Given the description of an element on the screen output the (x, y) to click on. 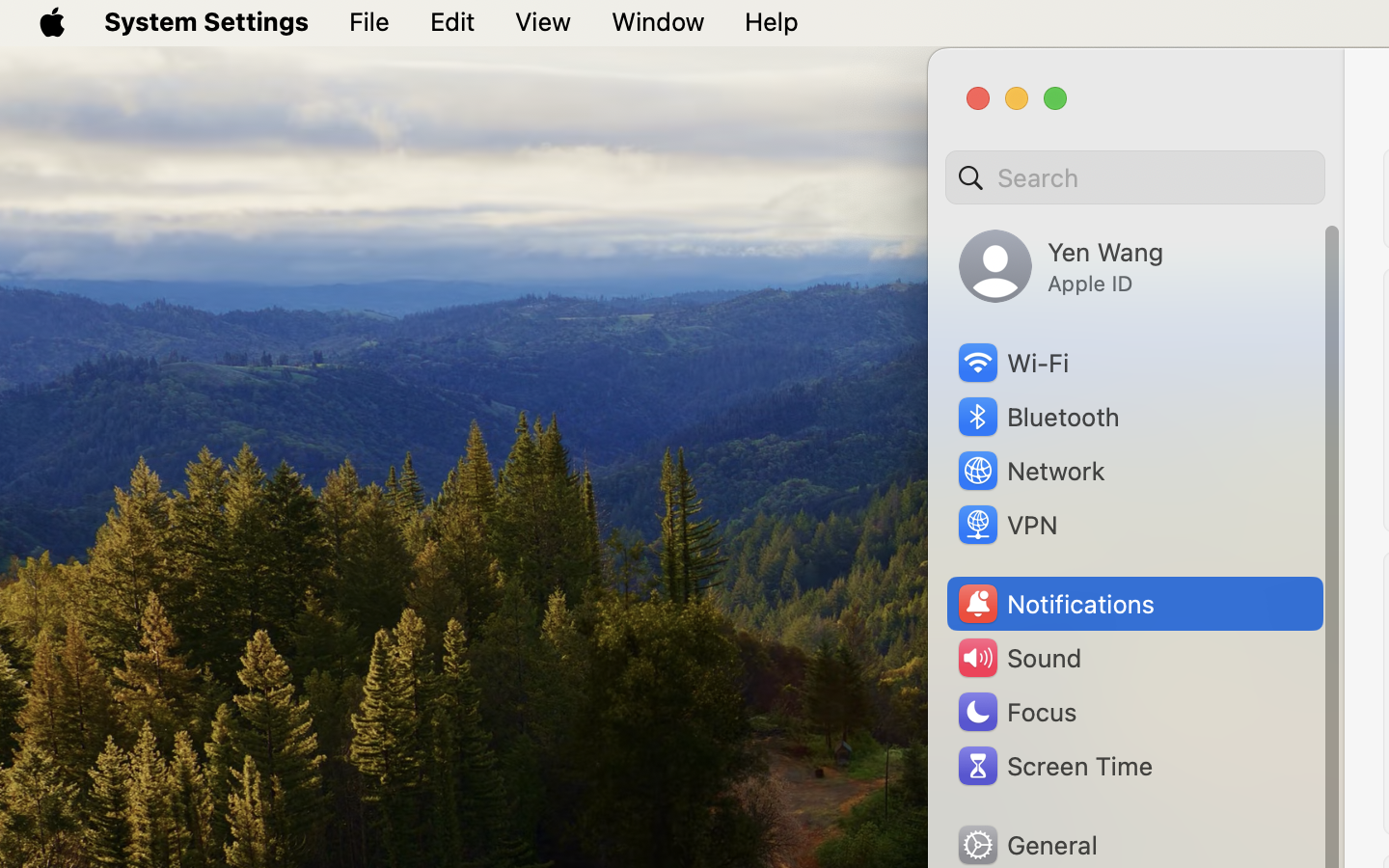
Sound Element type: AXStaticText (1018, 657)
Screen Time Element type: AXStaticText (1053, 765)
Wi‑Fi Element type: AXStaticText (1011, 362)
Yen Wang, Apple ID Element type: AXStaticText (1060, 265)
Focus Element type: AXStaticText (1015, 711)
